Given the description of an element on the screen output the (x, y) to click on. 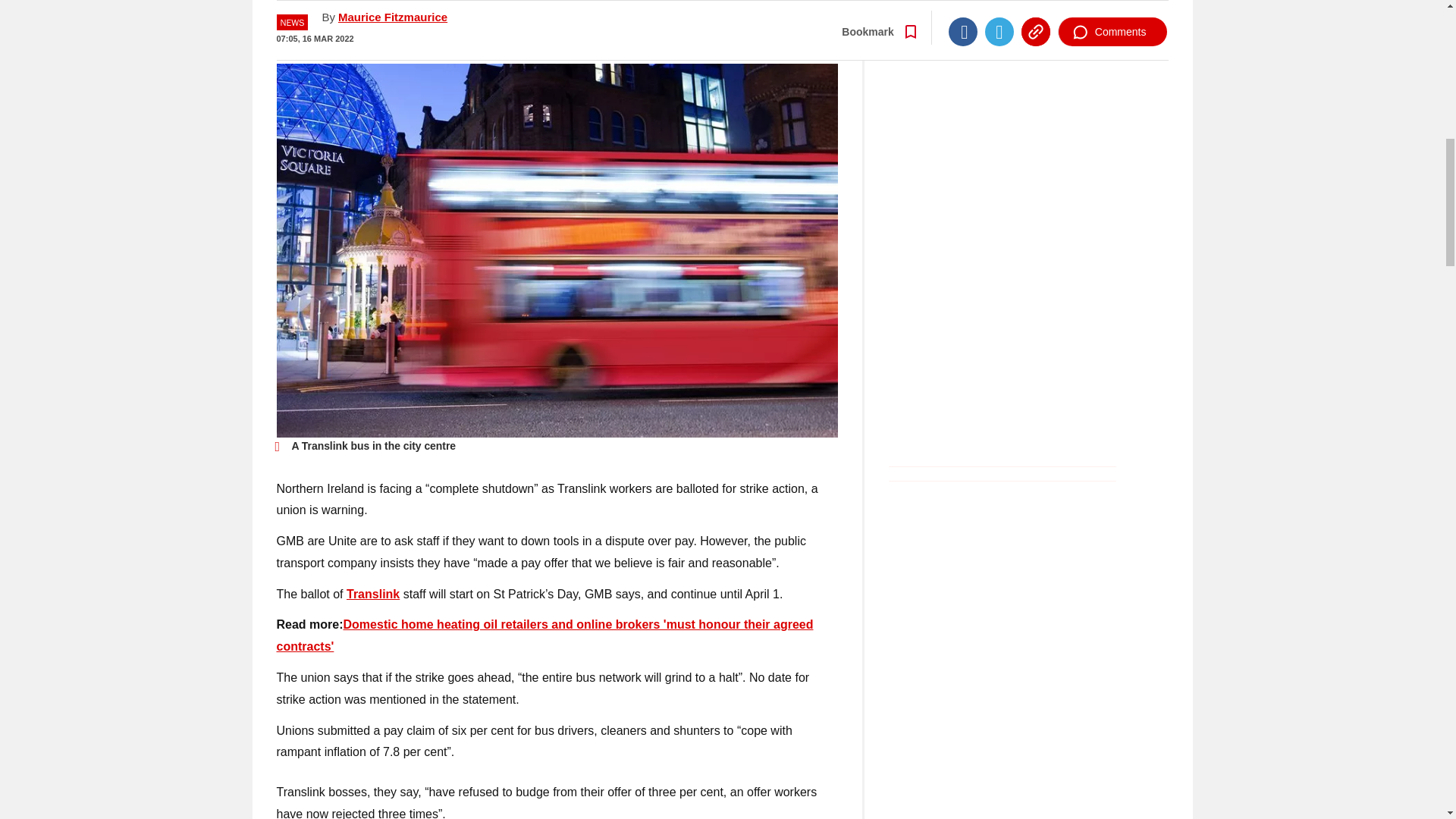
Go (730, 29)
